Given the description of an element on the screen output the (x, y) to click on. 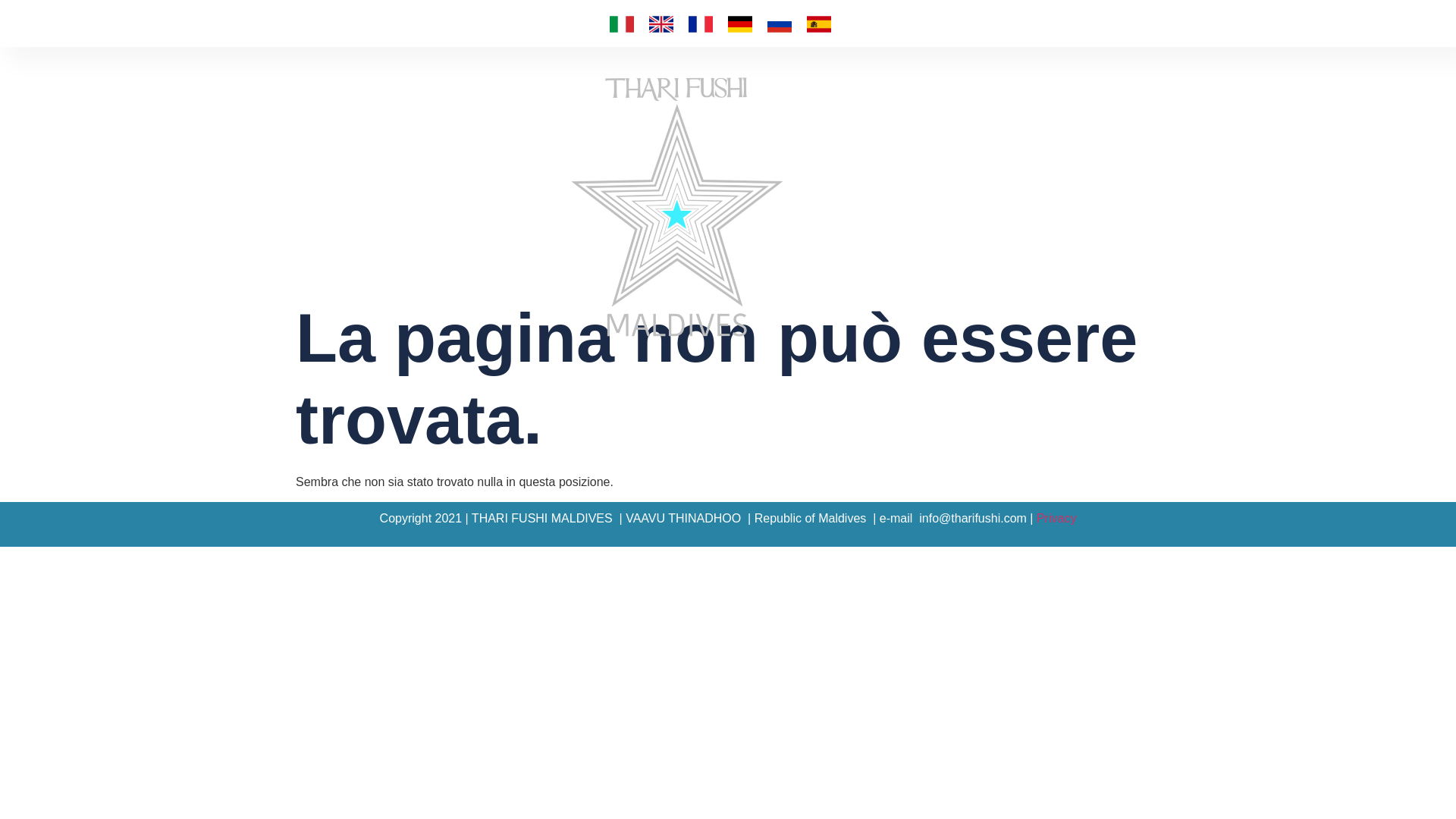
Privacy (1055, 517)
